Given the description of an element on the screen output the (x, y) to click on. 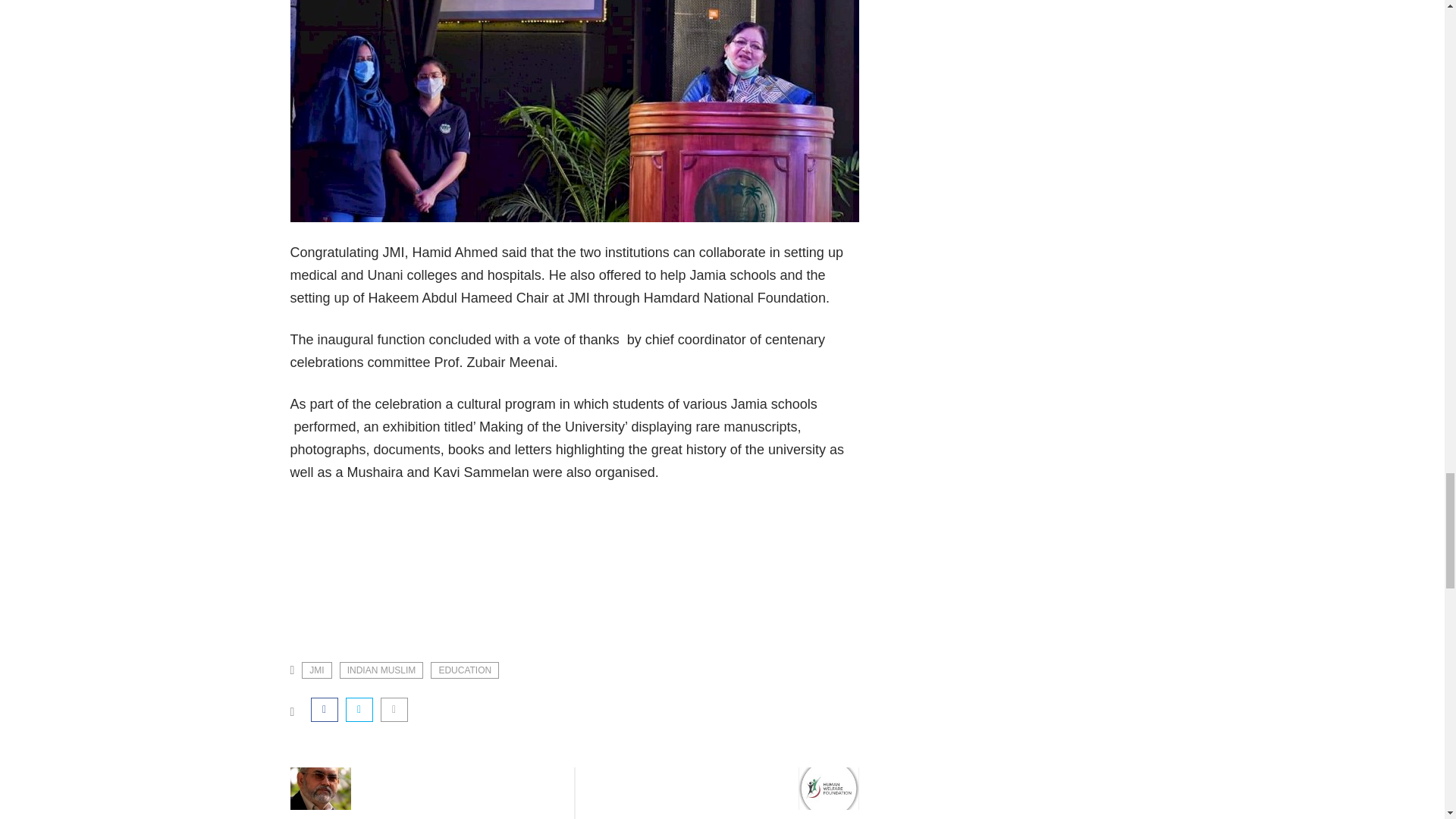
EDUCATION (464, 669)
Super admin (319, 817)
Oct 29, 2020 (393, 817)
Super admin (753, 817)
INDIAN MUSLIM (381, 669)
JMI (316, 669)
Oct 30, 2020 (827, 817)
